Given the description of an element on the screen output the (x, y) to click on. 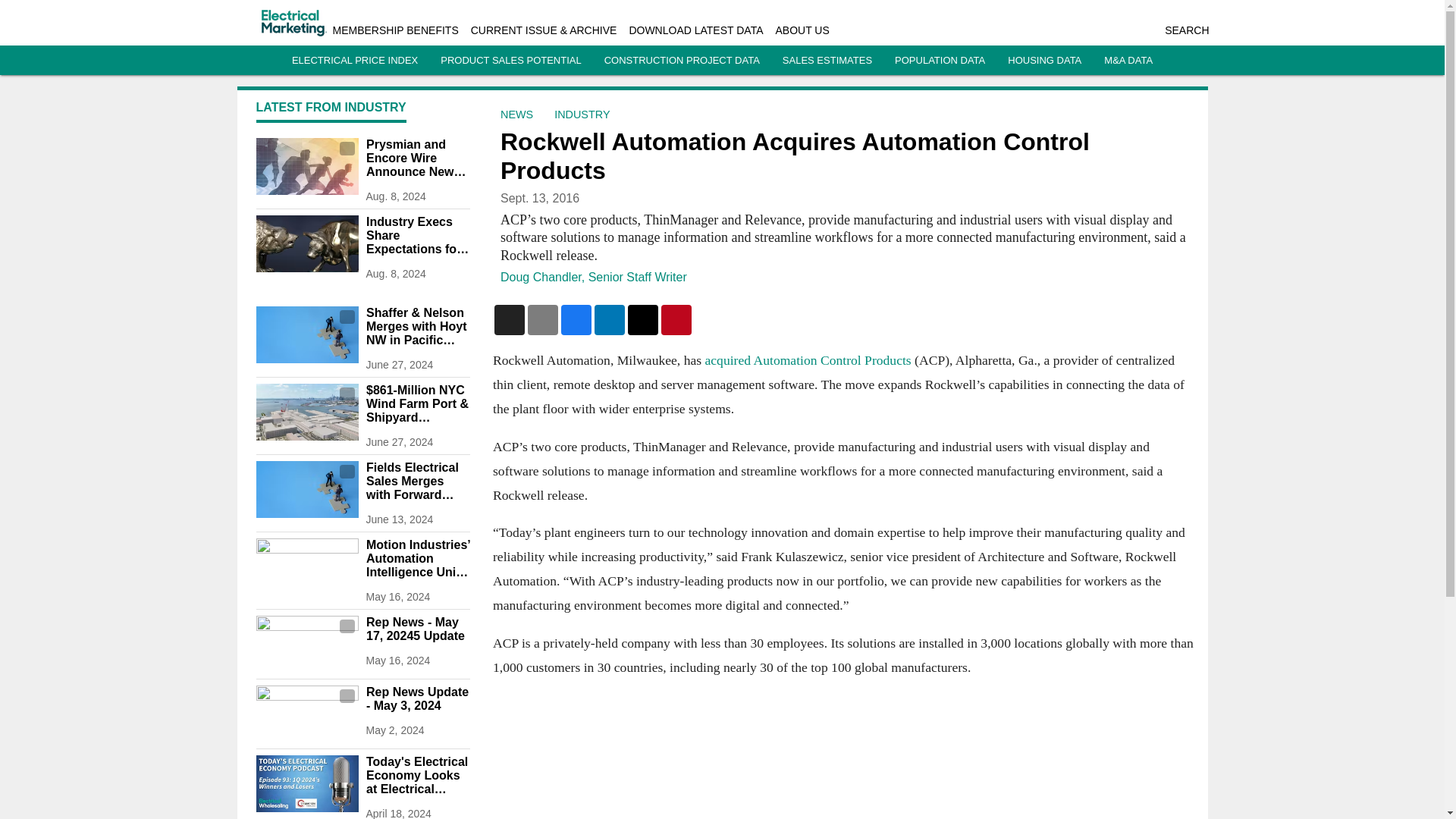
DOWNLOAD LATEST DATA (695, 30)
NEWS (516, 114)
Rep News - May 17, 20245 Update (417, 628)
MEMBERSHIP BENEFITS (394, 30)
INDUSTRY (582, 114)
ELECTRICAL PRICE INDEX (354, 60)
SEARCH (1186, 30)
